Given the description of an element on the screen output the (x, y) to click on. 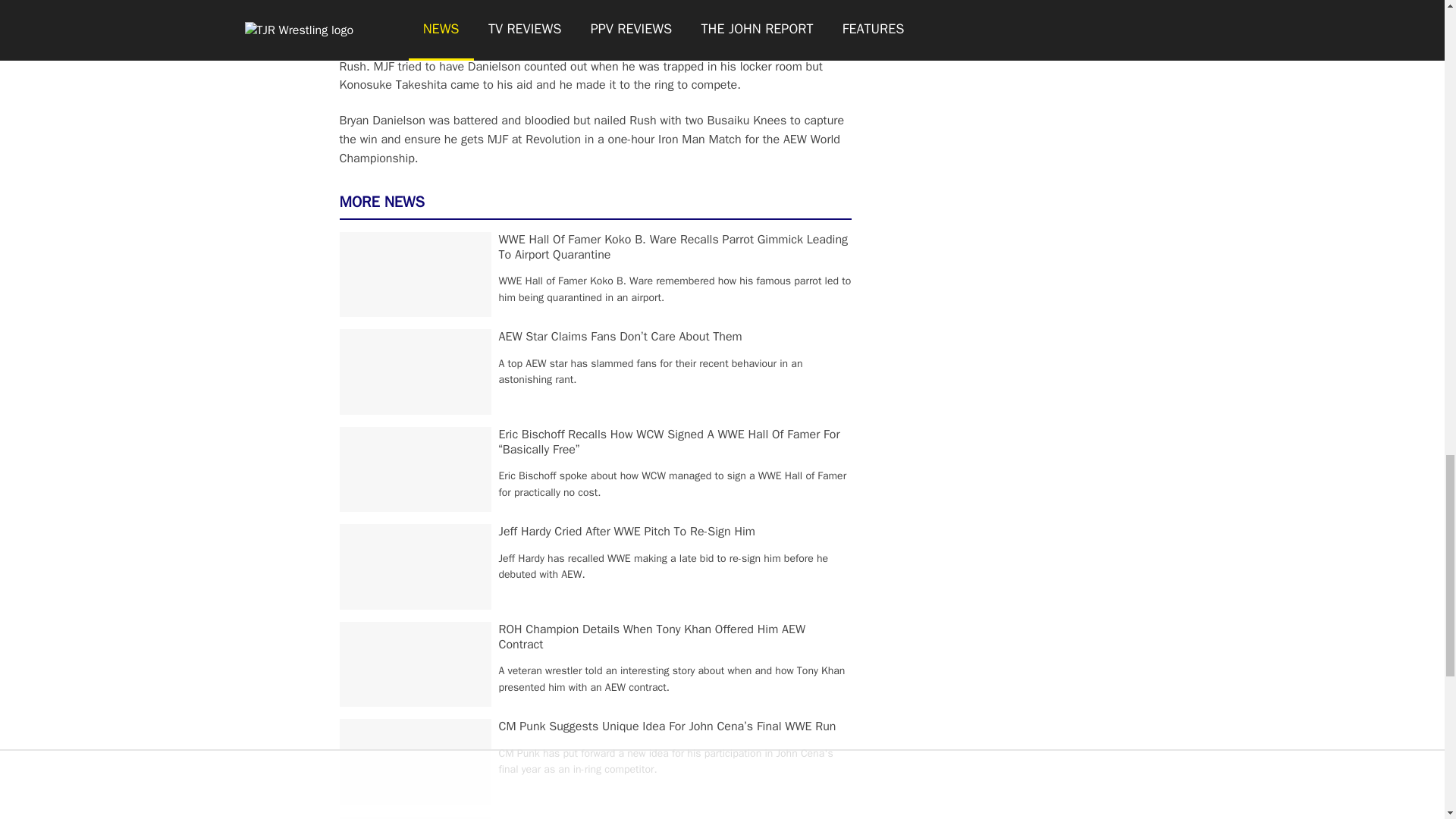
ROH Champion Details When Tony Khan Offered Him AEW Contract (652, 636)
Jeff Hardy Cried After WWE Pitch To Re-Sign Him (627, 531)
